Given the description of an element on the screen output the (x, y) to click on. 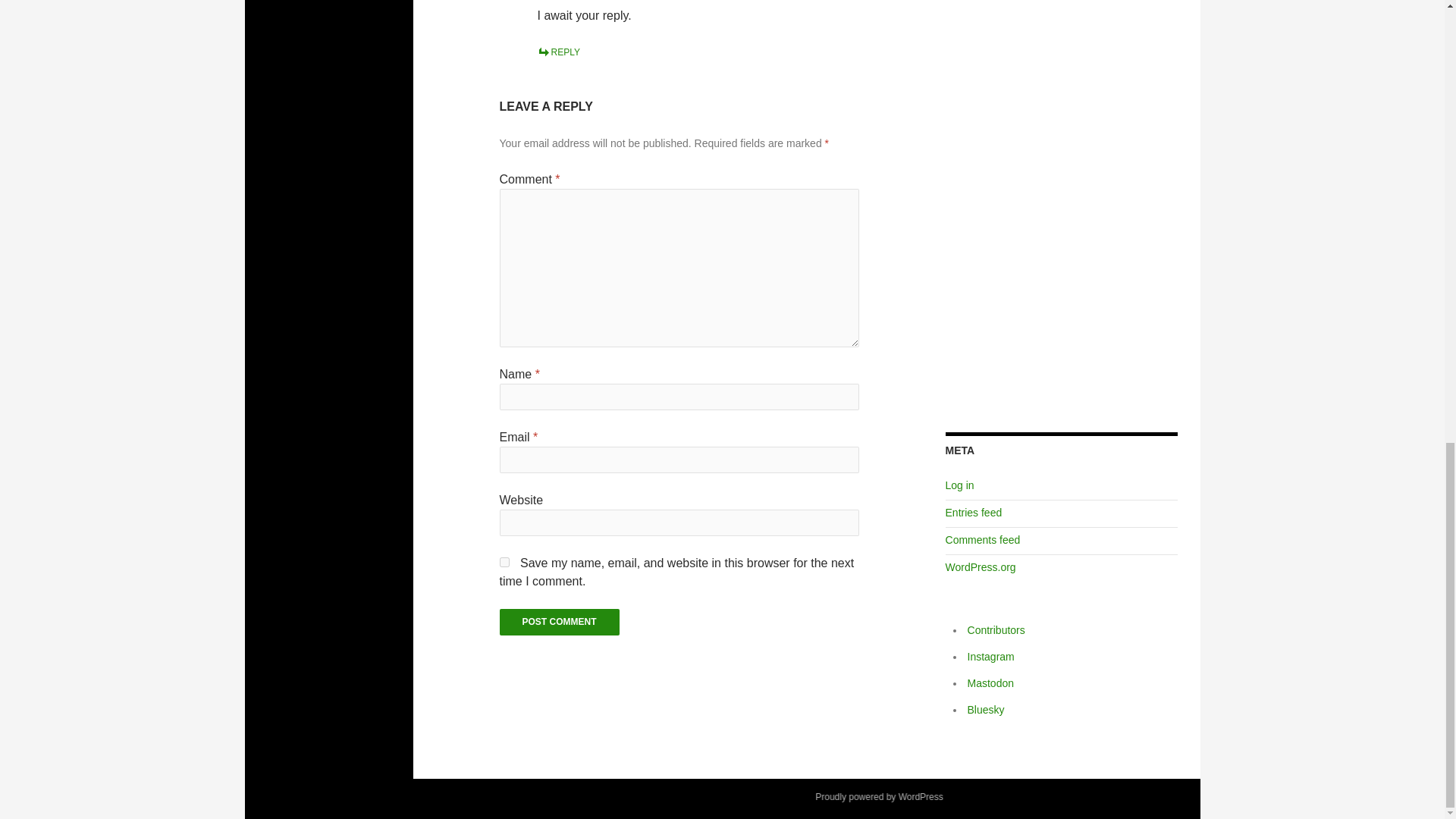
yes (504, 562)
REPLY (558, 51)
Post Comment (559, 622)
Post Comment (559, 622)
